Given the description of an element on the screen output the (x, y) to click on. 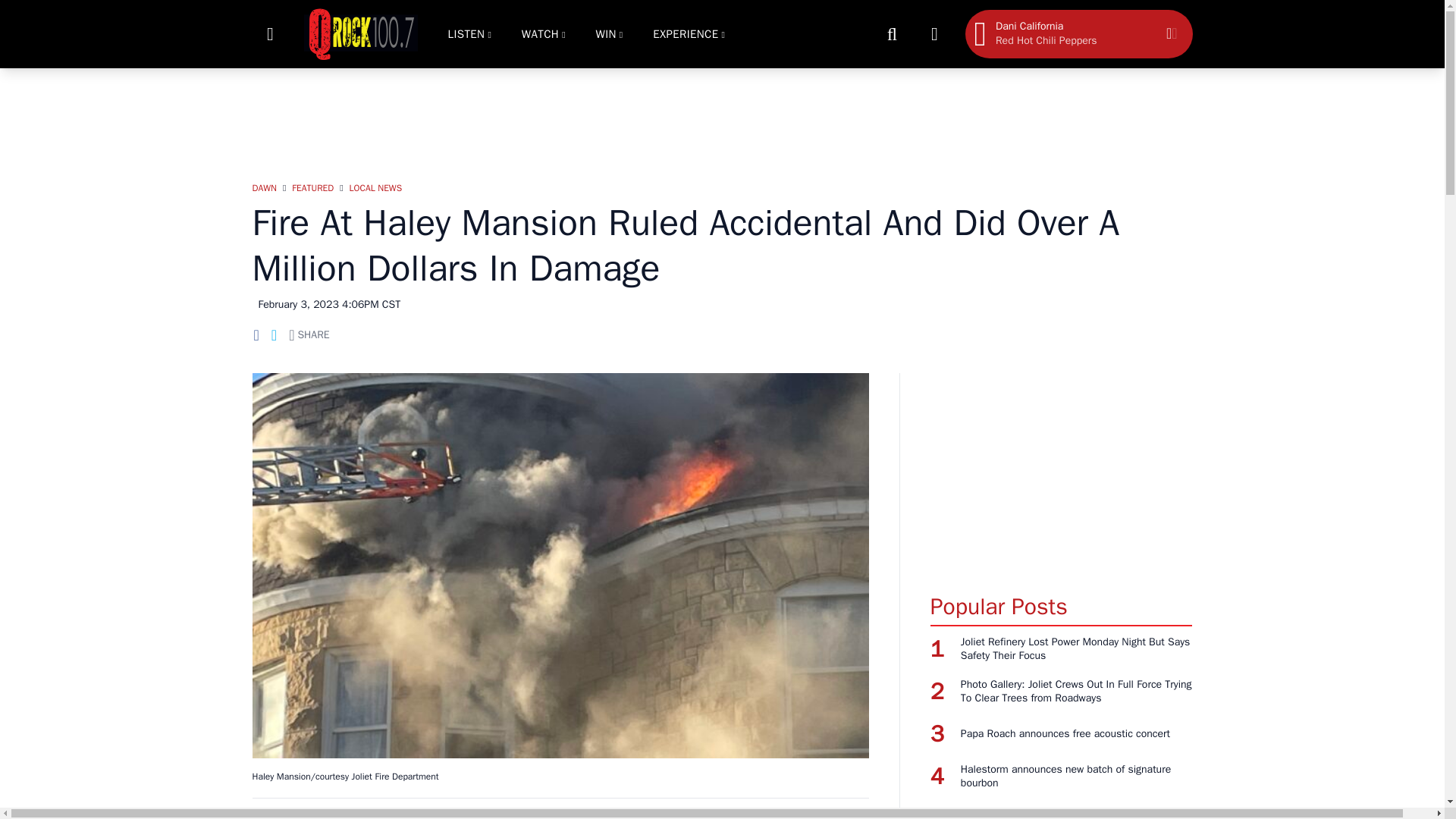
3rd party ad content (721, 117)
3rd party ad content (1060, 467)
